Given the description of an element on the screen output the (x, y) to click on. 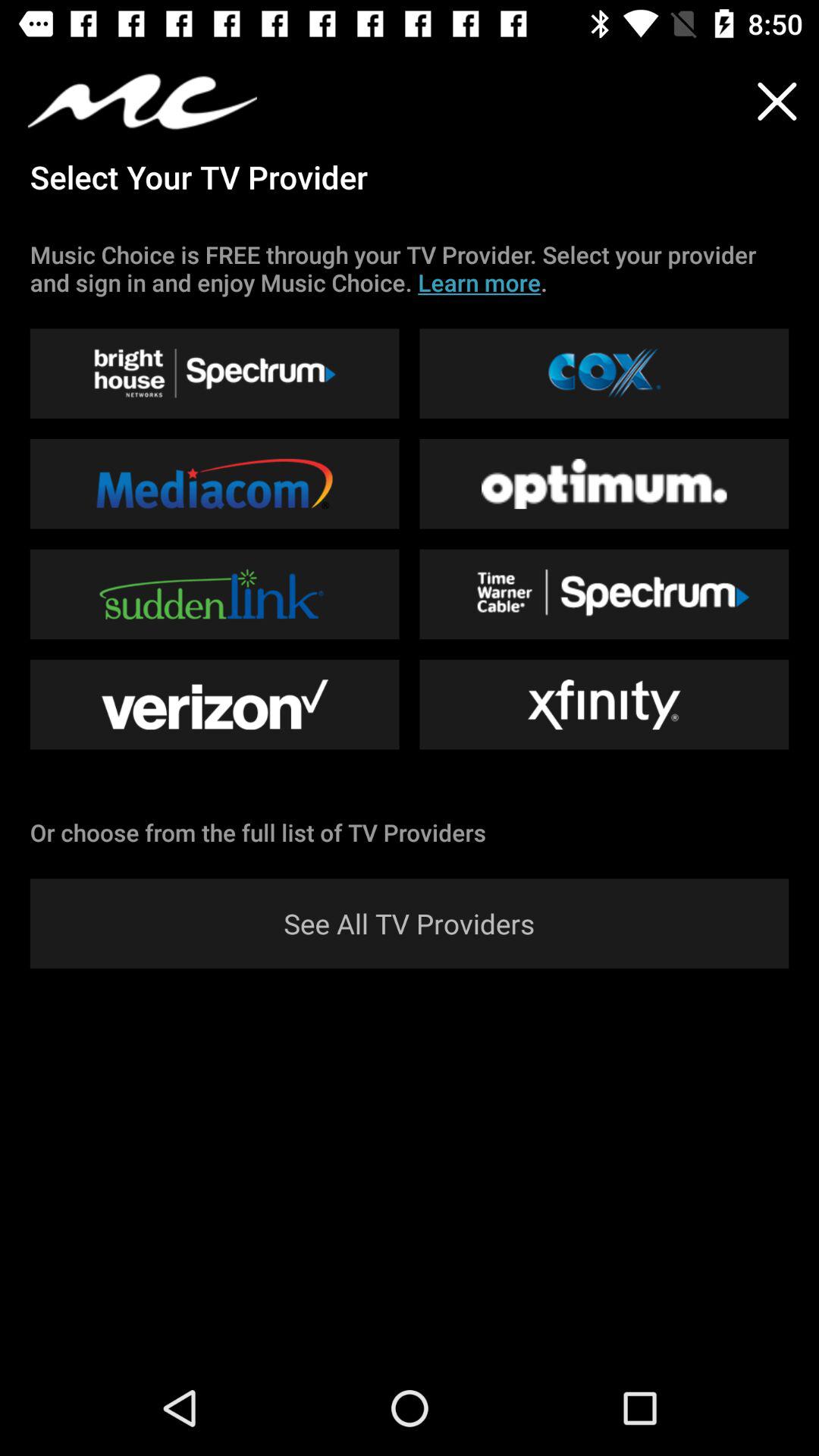
choose the item next to select your tv icon (777, 101)
